Given the description of an element on the screen output the (x, y) to click on. 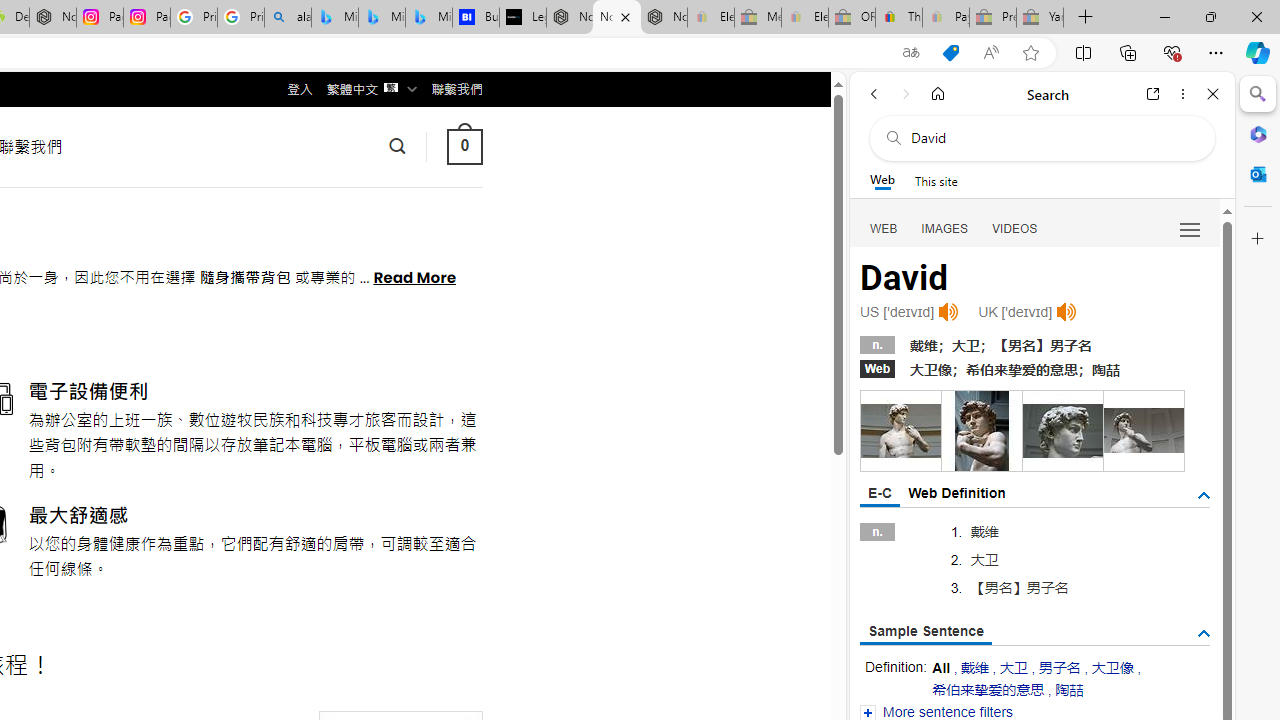
alabama high school quarterback dies - Search (288, 17)
AutomationID: emb24E78E1D3 (1062, 430)
Show translate options (910, 53)
Forward (906, 93)
AutomationID: tgdef_sen (1203, 633)
IMAGES (944, 228)
